Given the description of an element on the screen output the (x, y) to click on. 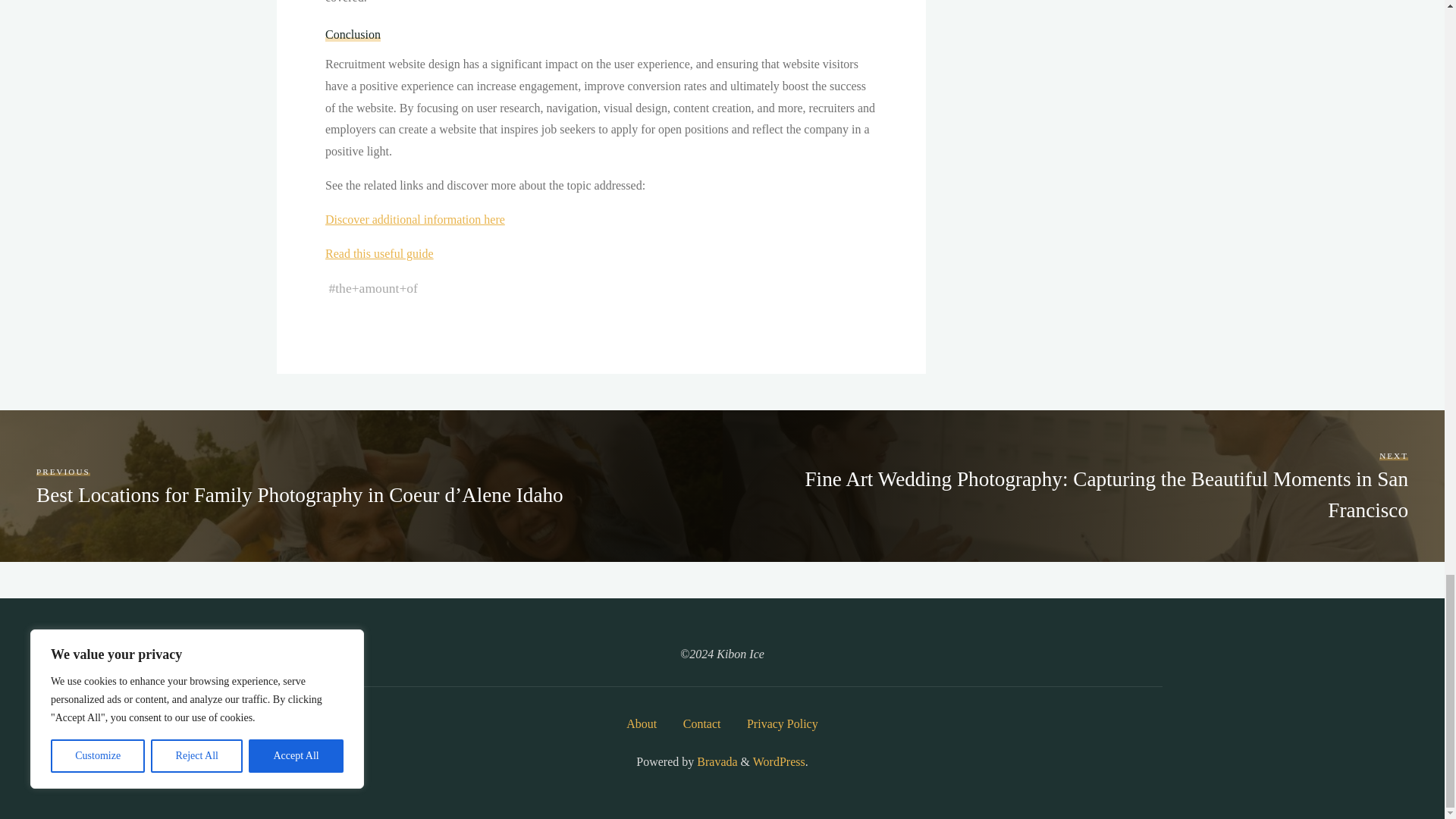
Bravada WordPress Theme by Cryout Creations (715, 761)
Semantic Personal Publishing Platform (778, 761)
Read this useful guide (378, 253)
Discover additional information here (413, 219)
